Given the description of an element on the screen output the (x, y) to click on. 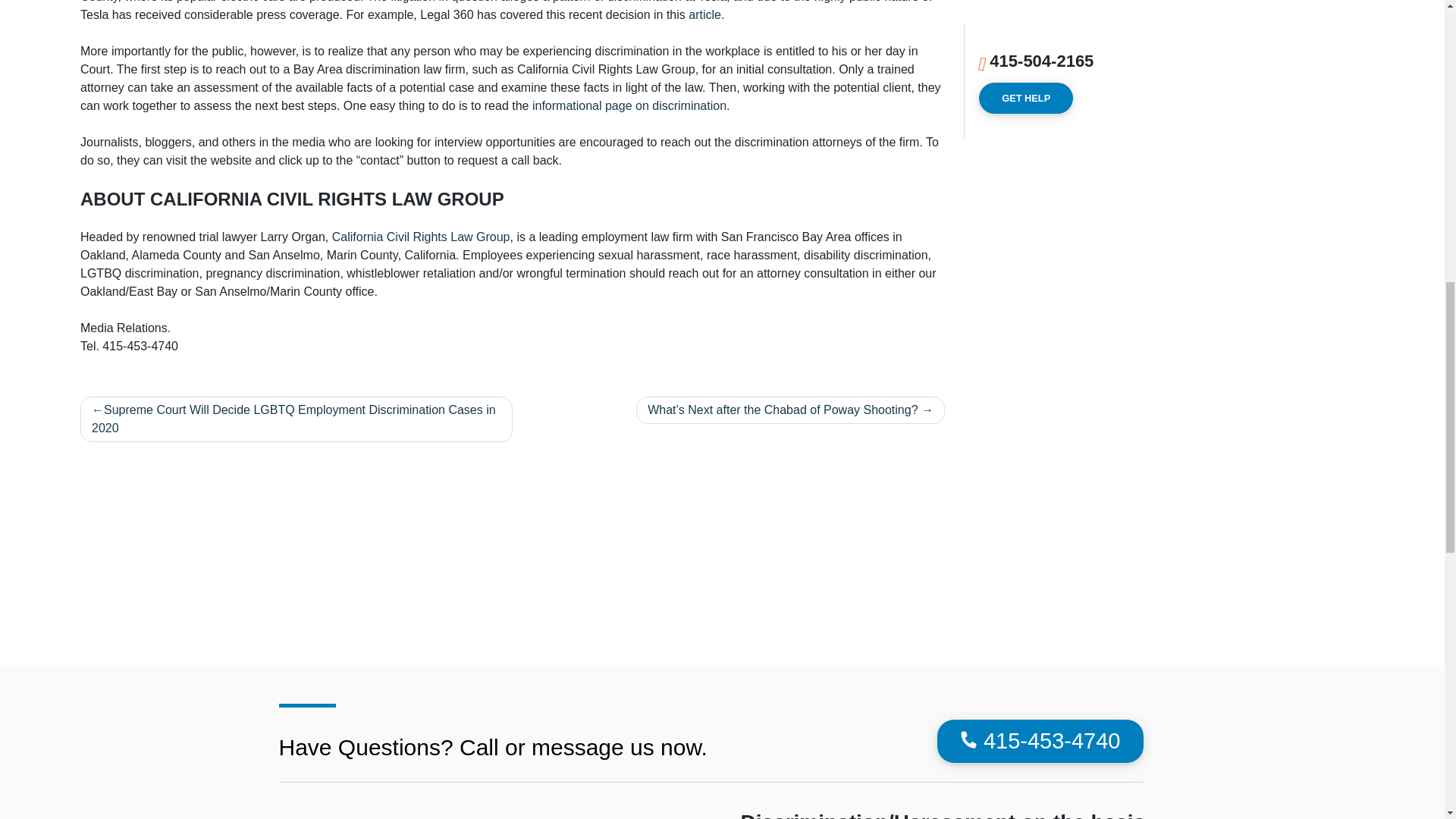
article (704, 14)
California Civil Rights Law Group (421, 236)
415-453-4740 (1039, 741)
informational page on discrimination (629, 105)
